Given the description of an element on the screen output the (x, y) to click on. 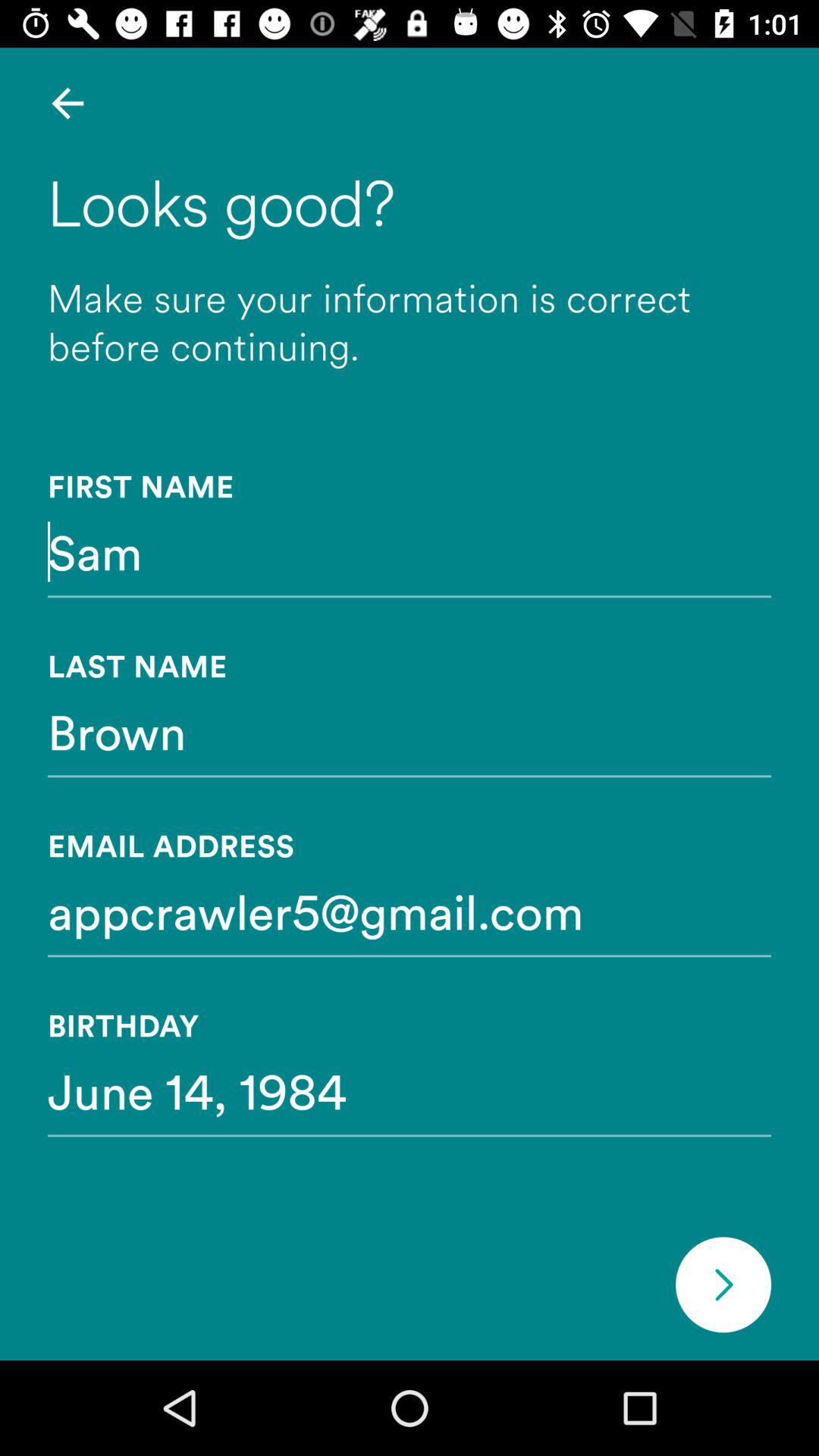
launch icon at the bottom right corner (723, 1284)
